Given the description of an element on the screen output the (x, y) to click on. 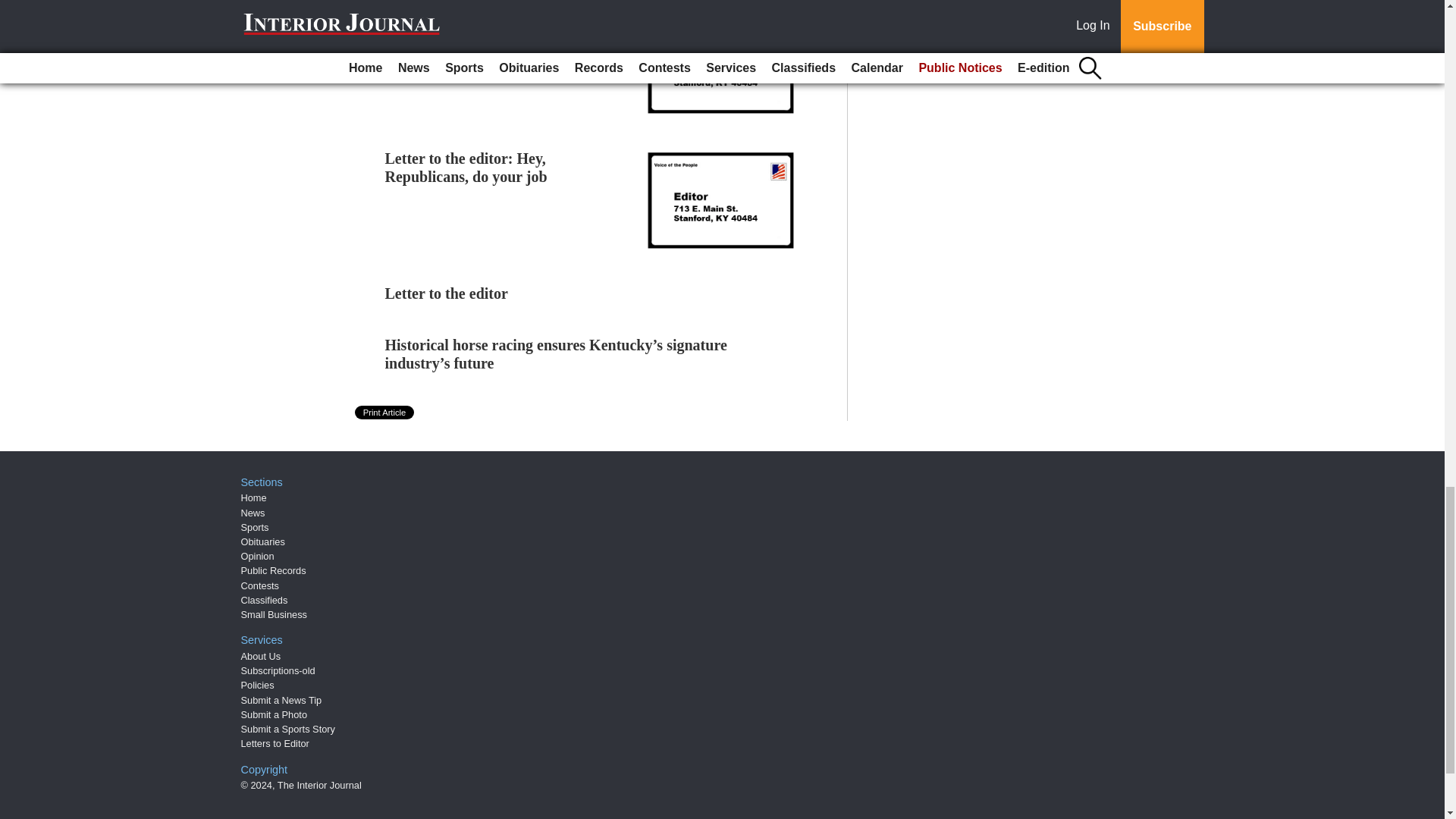
Opinion (258, 555)
Print Article (384, 412)
Letter to the Editor: HB 5 will not make Kentucky safer (495, 31)
News (252, 512)
Public Records (273, 570)
Sports (255, 527)
Letter to the editor (446, 293)
Letter to the editor: Hey, Republicans, do your job (466, 167)
Home (253, 497)
Letter to the editor: Hey, Republicans, do your job (466, 167)
Letter to the Editor: HB 5 will not make Kentucky safer (495, 31)
Obituaries (263, 541)
Letter to the editor (446, 293)
Contests (260, 585)
